Given the description of an element on the screen output the (x, y) to click on. 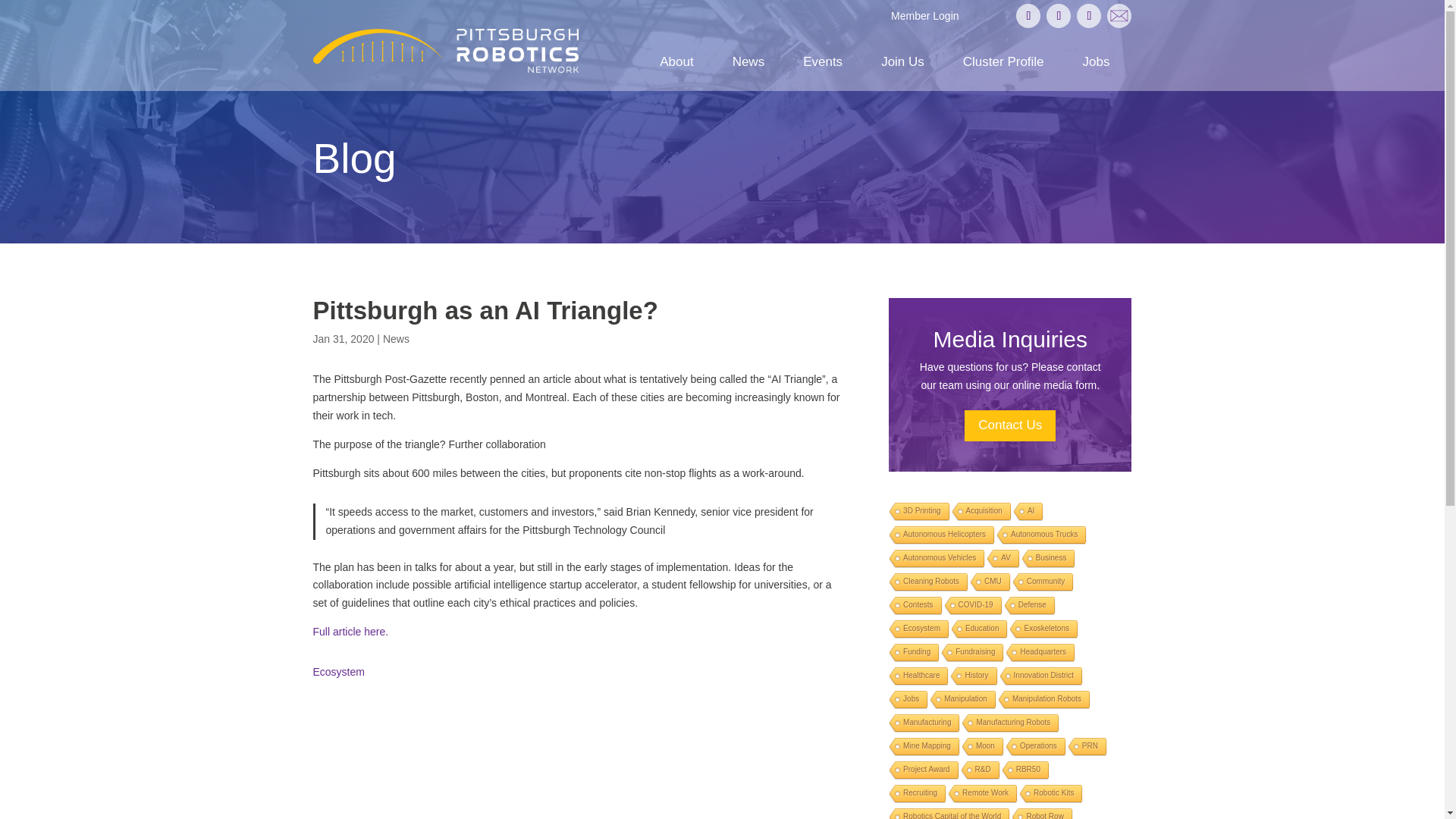
Contact Us (1118, 15)
Follow on LinkedIn (1058, 15)
Follow on Youtube (1088, 15)
Member Login (925, 15)
Cluster Profile (1002, 61)
Jobs (1096, 61)
Events (823, 61)
News (748, 61)
About (676, 61)
Follow on X (1028, 15)
Join Us (902, 61)
